Given the description of an element on the screen output the (x, y) to click on. 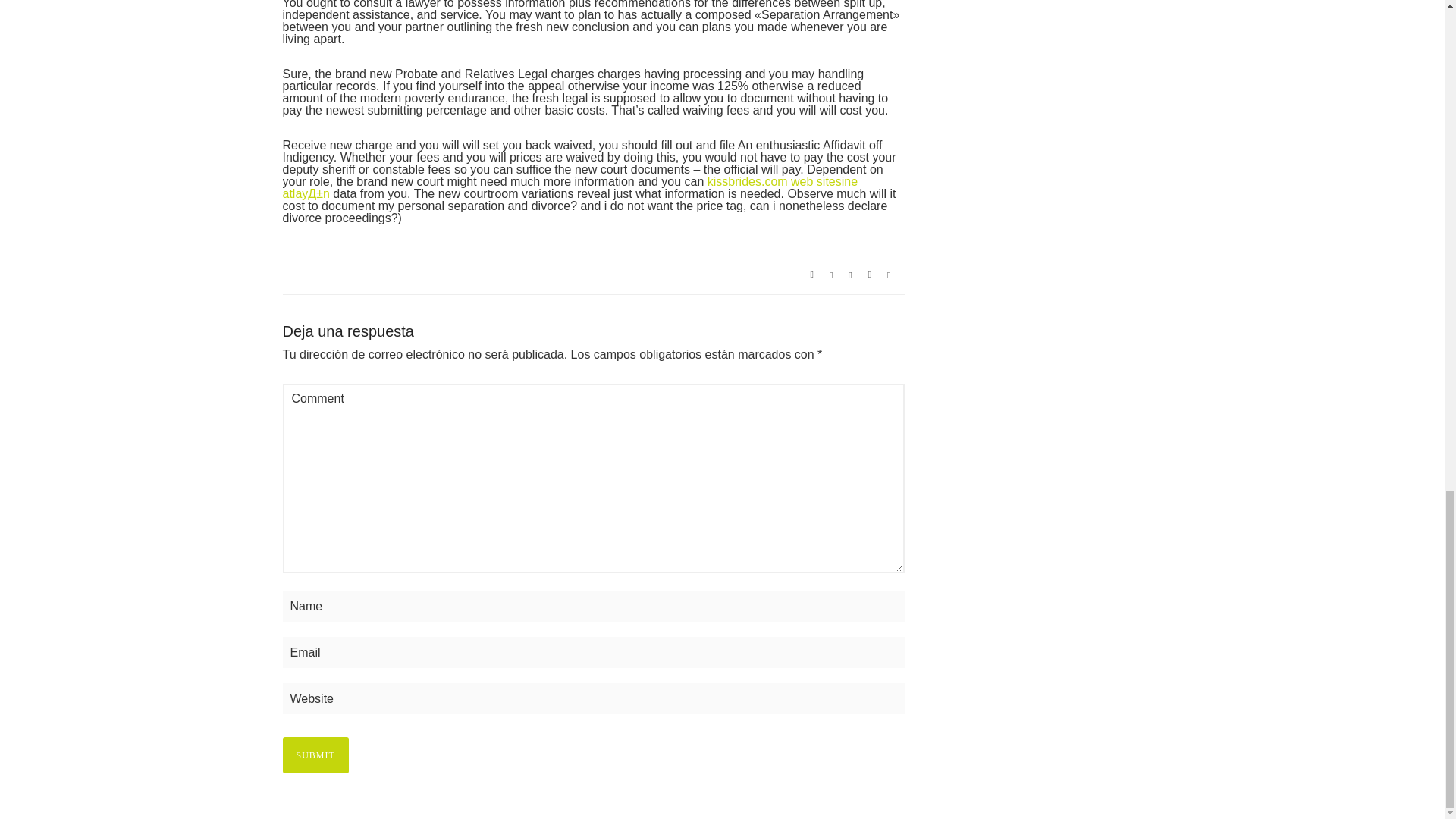
Submit (314, 755)
Submit (314, 755)
